Given the description of an element on the screen output the (x, y) to click on. 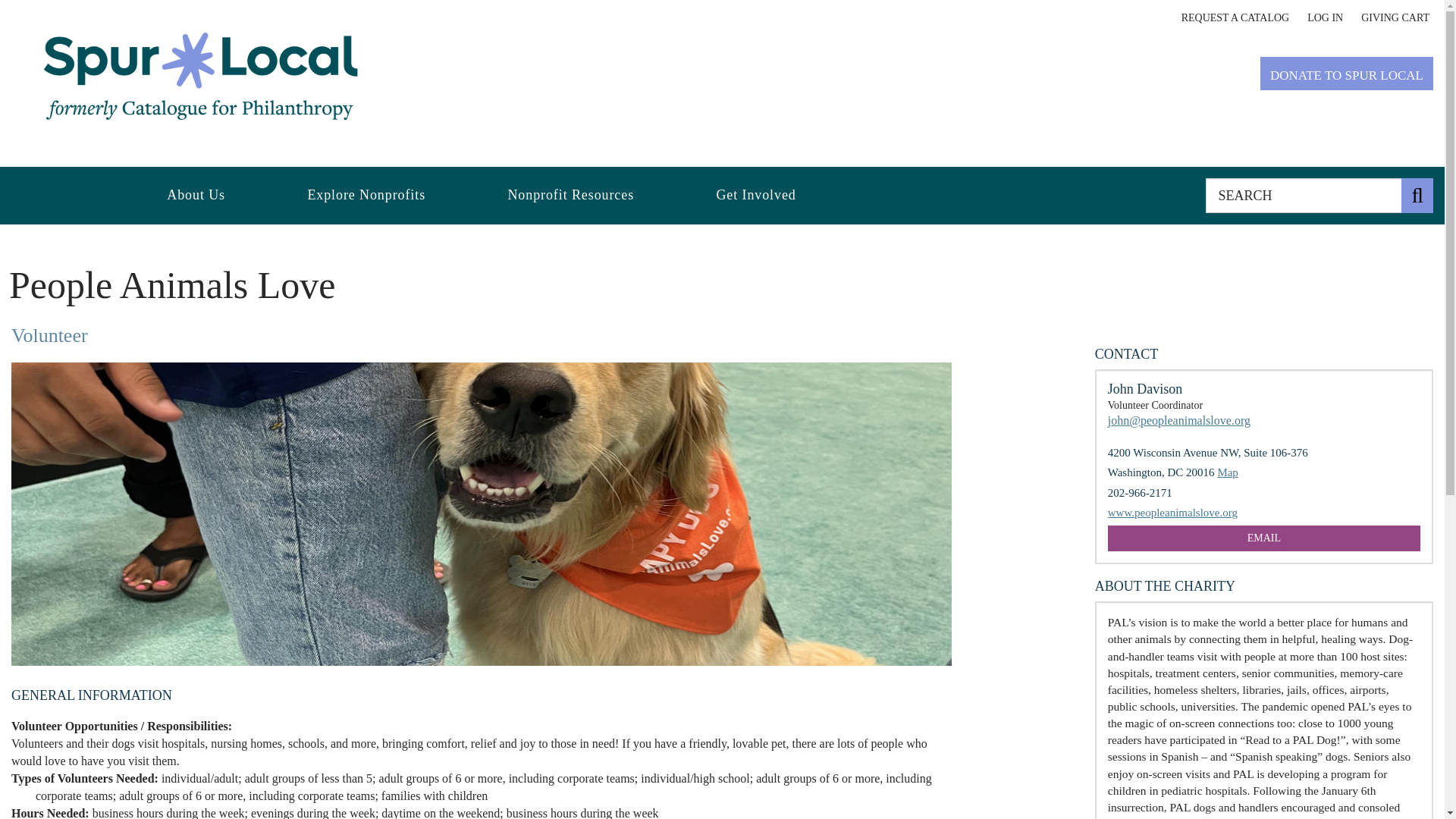
Log In (1324, 17)
REQUEST A CATALOG (1235, 17)
About Us (195, 195)
Who We Are (195, 195)
Donate to The Catalogue for Philanthropy (1346, 73)
GIVING CART (1395, 17)
Nonprofit Resources (570, 195)
DONATE TO SPUR LOCAL (1346, 73)
Explore Nonprofits (365, 195)
Catalogue for Philanthropy: Greater Washington home (200, 75)
